Given the description of an element on the screen output the (x, y) to click on. 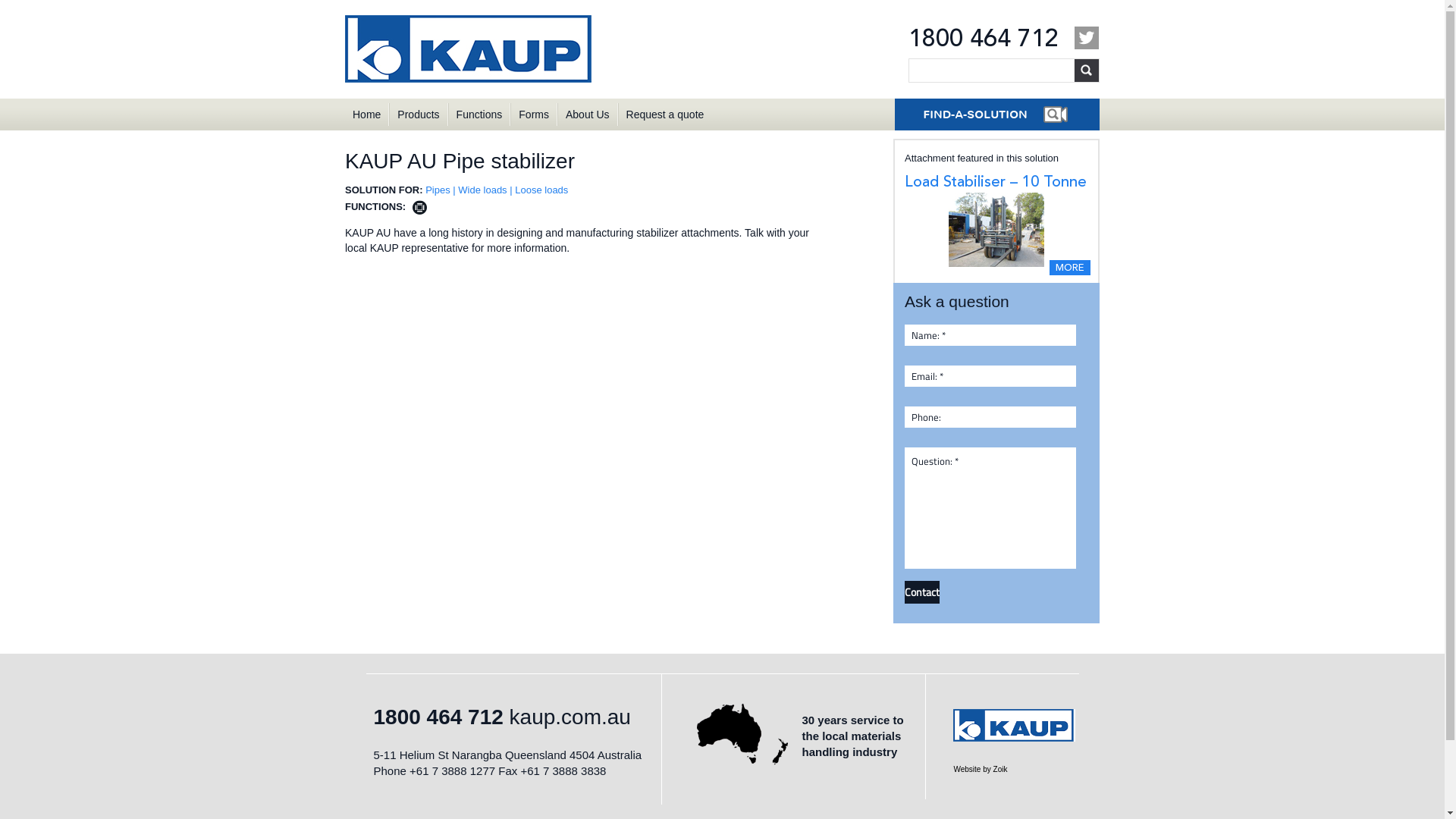
About Us Element type: text (587, 114)
Stabilising Element type: text (419, 207)
Twitter Element type: text (1086, 37)
Request a quote Element type: text (665, 114)
Website by Zoik Element type: text (980, 769)
Functions Element type: text (479, 114)
Products Element type: text (418, 114)
Contact Element type: text (921, 591)
MORE Element type: text (1069, 267)
Pipes Element type: text (437, 189)
Forms Element type: text (533, 114)
Loose loads Element type: text (540, 189)
Home Element type: text (367, 114)
KAUP Australia Element type: text (470, 49)
Wide loads Element type: text (482, 189)
Search Element type: text (1085, 70)
1800 464 712 Element type: text (983, 38)
Find a Solution Element type: text (996, 114)
1800 464 712 Element type: text (437, 716)
